Given the description of an element on the screen output the (x, y) to click on. 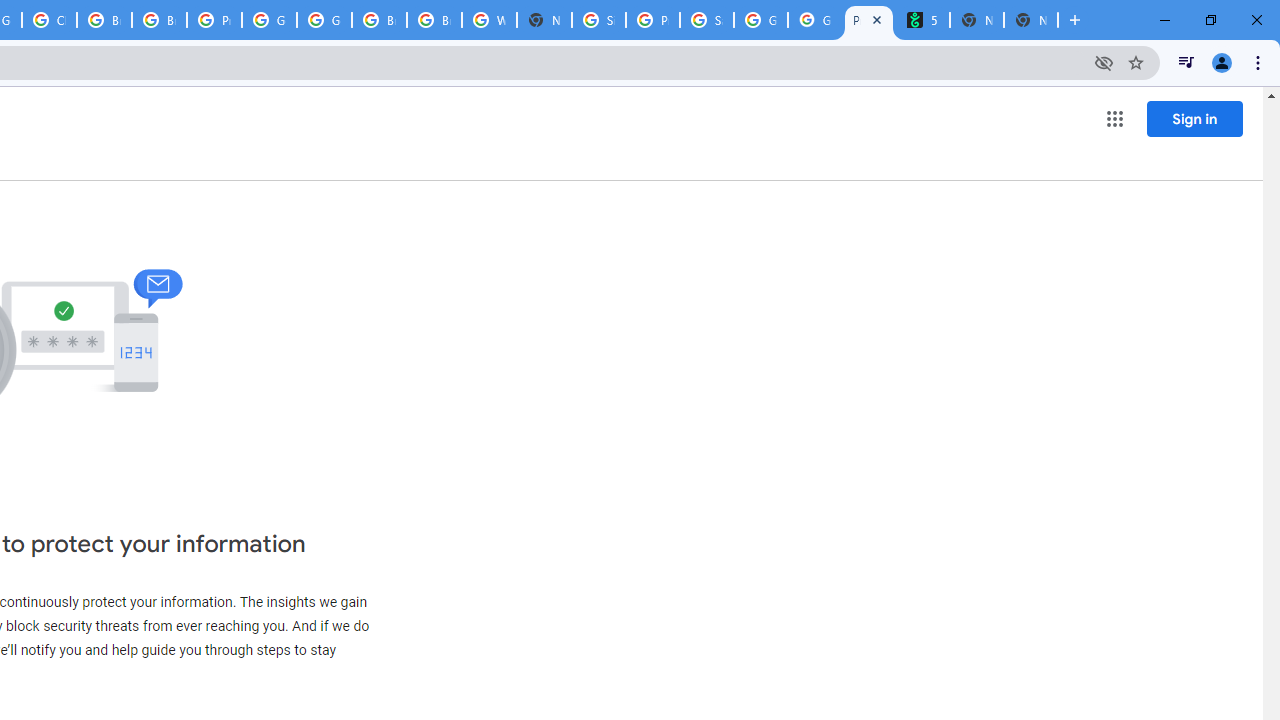
Browse Chrome as a guest - Computer - Google Chrome Help (103, 20)
New Tab (544, 20)
New Tab (1030, 20)
